Given the description of an element on the screen output the (x, y) to click on. 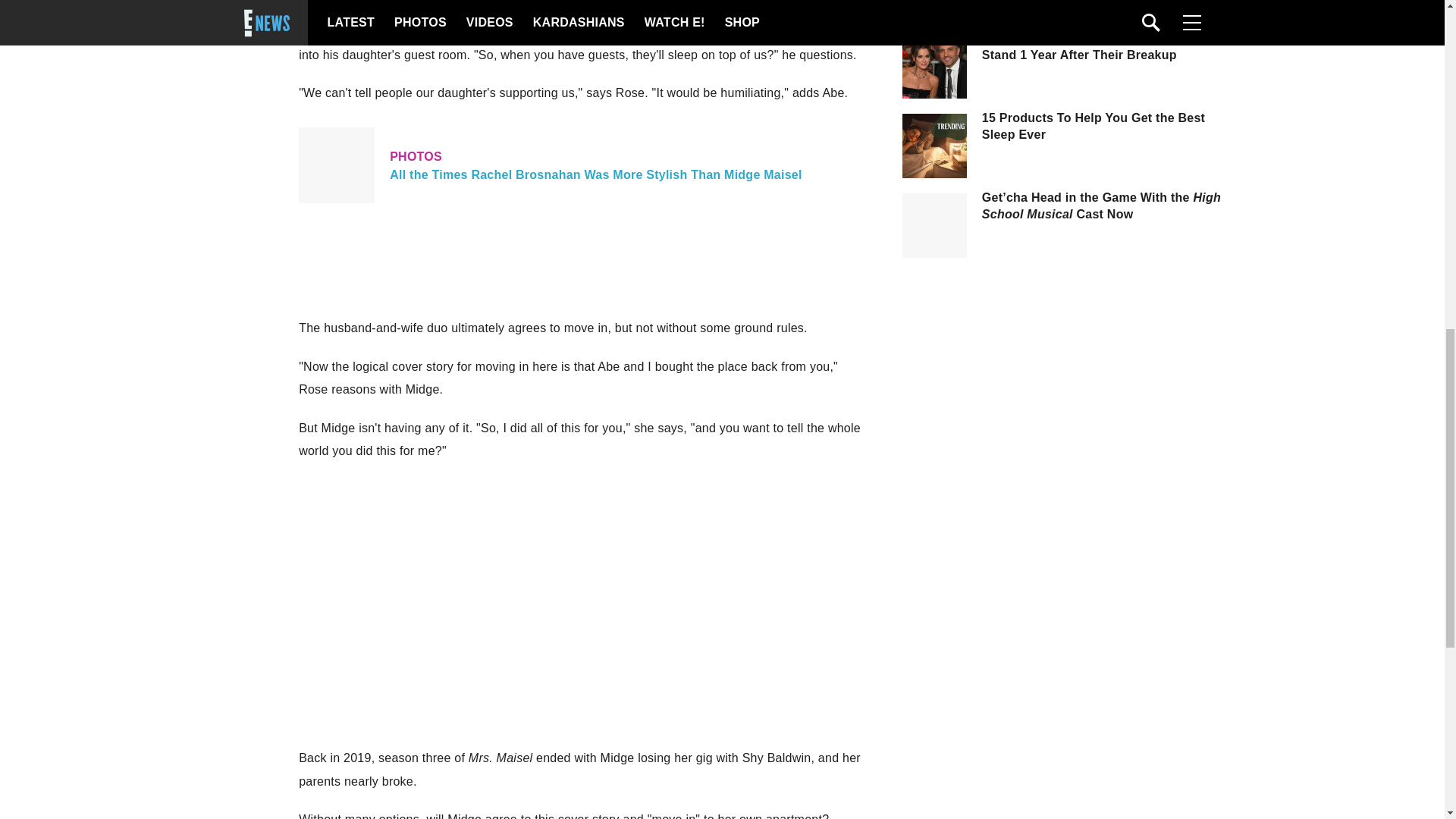
15 Products To Help You Get the Best Sleep Ever (1106, 125)
